Given the description of an element on the screen output the (x, y) to click on. 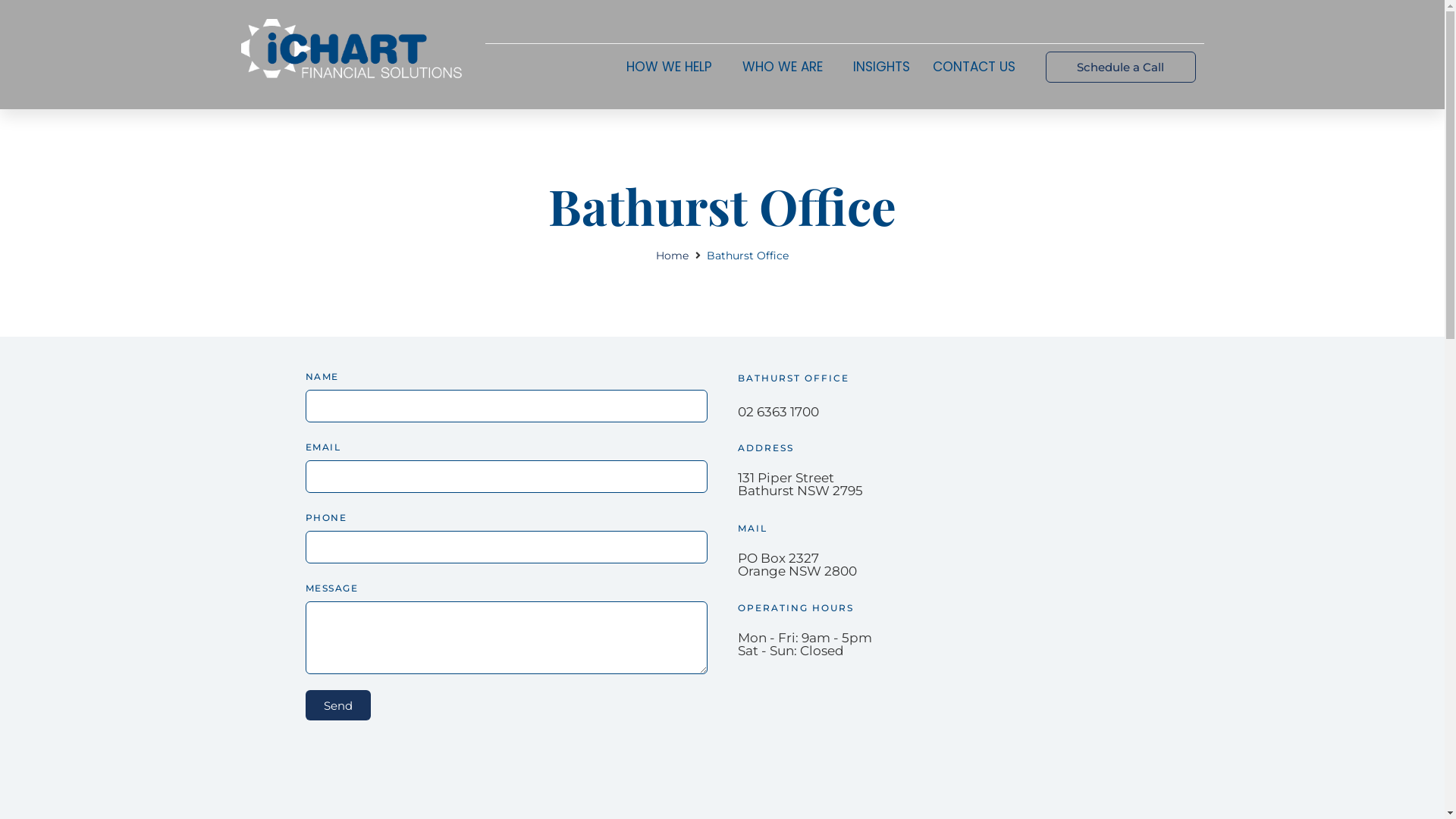
CONTACT US Element type: text (977, 66)
02 6363 1700 Element type: text (777, 411)
INSIGHTS Element type: text (881, 66)
Schedule a Call Element type: text (1120, 66)
HOW WE HELP Element type: text (672, 66)
Home Element type: text (671, 255)
Send Element type: text (337, 705)
WHO WE ARE Element type: text (785, 66)
